Given the description of an element on the screen output the (x, y) to click on. 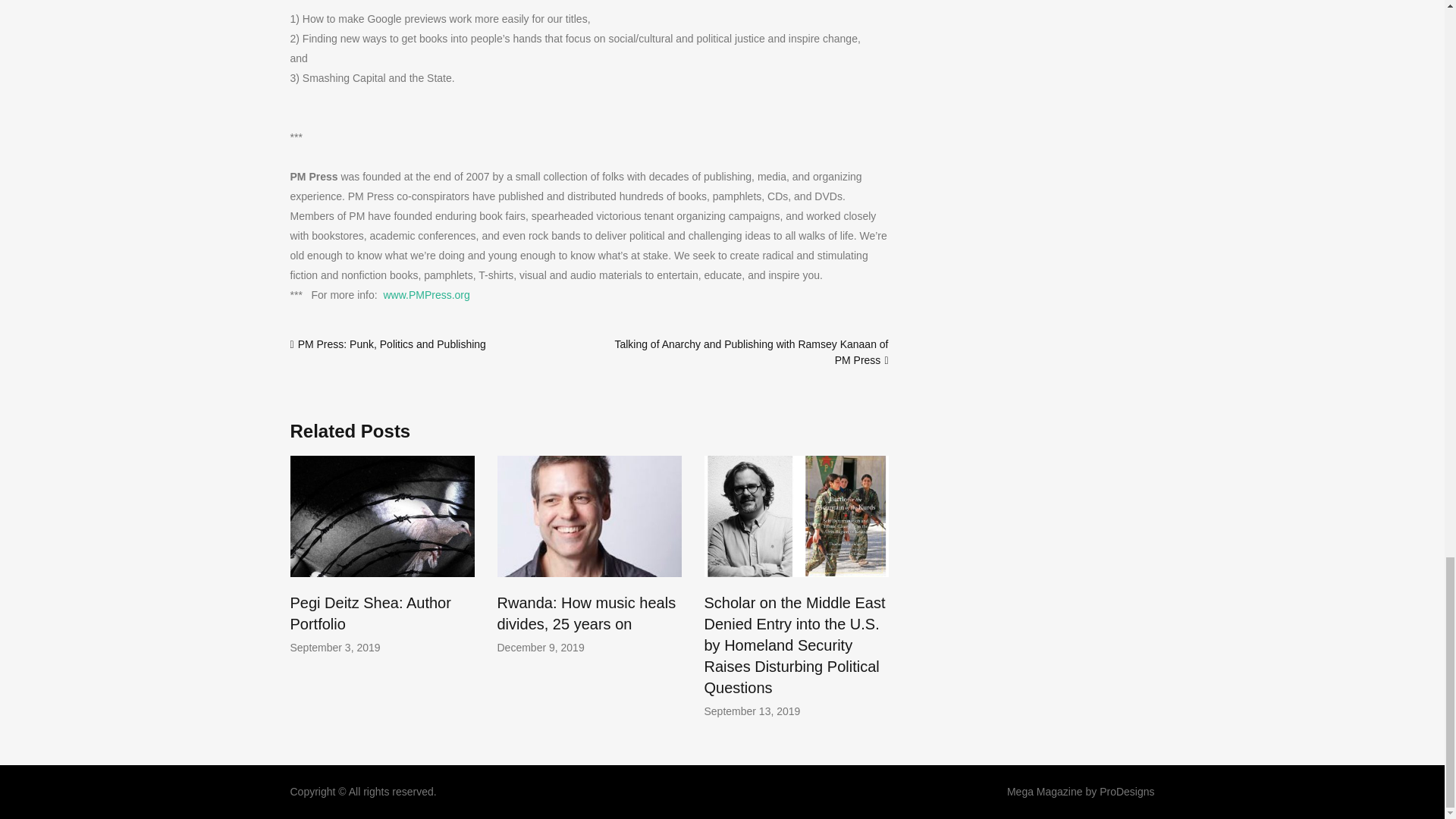
PM Press: Punk, Politics and Publishing (392, 344)
www.PMPress.org (425, 295)
Pegi Deitz Shea: Author Portfolio (369, 613)
Rwanda: How music heals divides, 25 years on (587, 613)
